Given the description of an element on the screen output the (x, y) to click on. 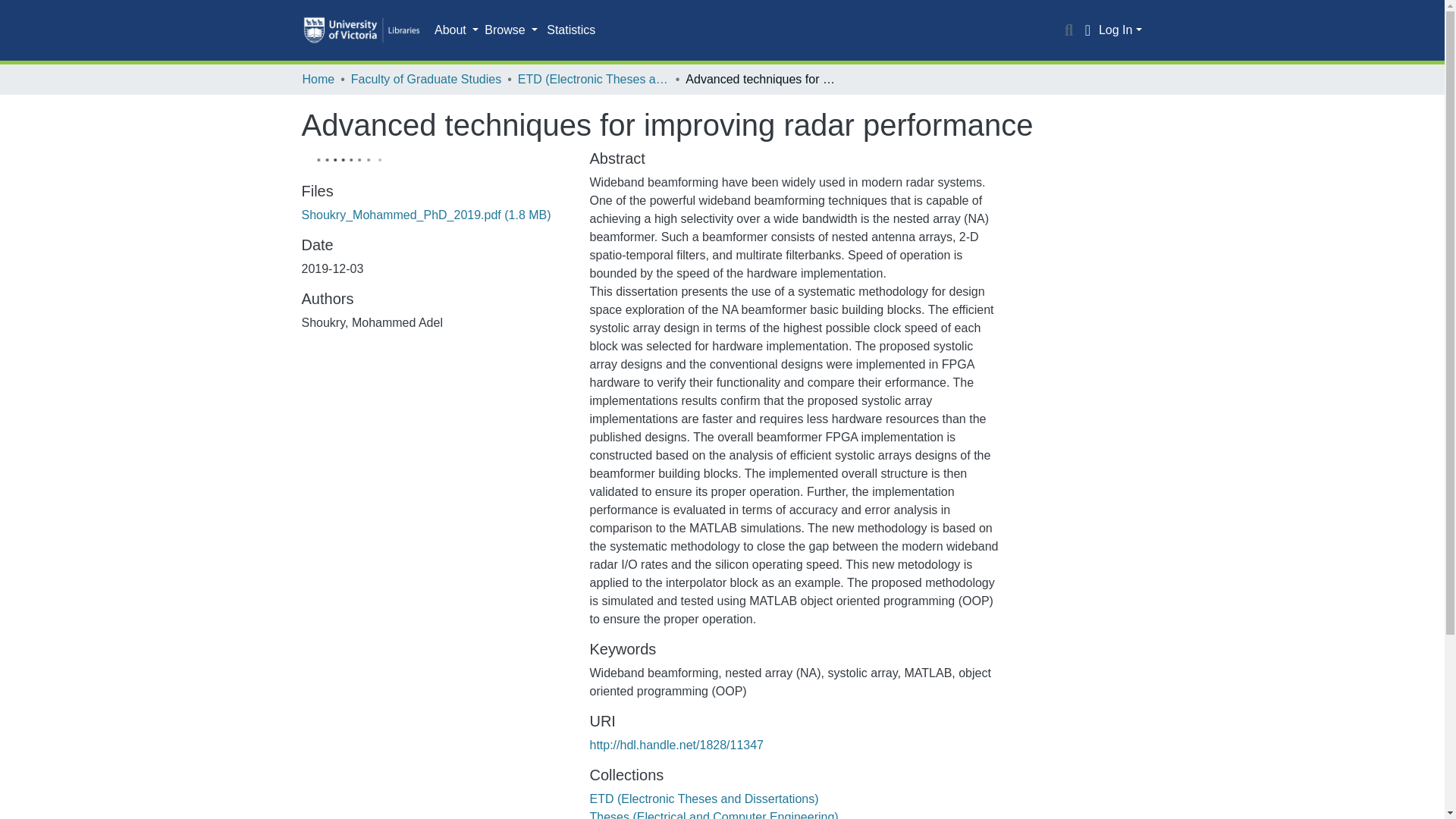
Faculty of Graduate Studies (425, 79)
Log In (1119, 29)
Statistics (570, 30)
Language switch (1087, 30)
Home (317, 79)
Statistics (570, 30)
Browse (510, 30)
Search (1068, 30)
About (455, 30)
